Given the description of an element on the screen output the (x, y) to click on. 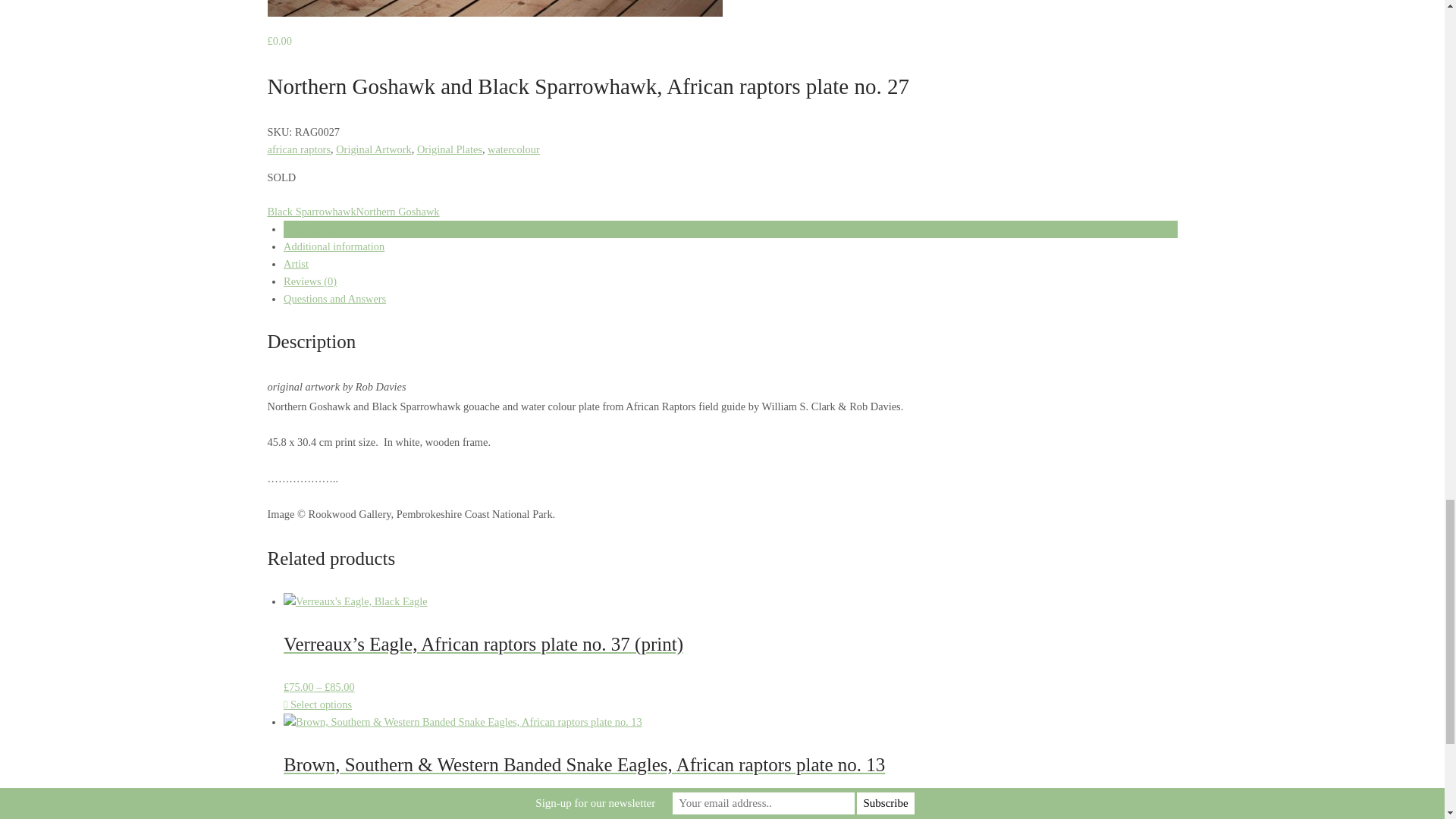
Original Plates (448, 149)
Additional information (333, 246)
watercolour (513, 149)
Black Sparrowhawk (310, 211)
Original Artwork (374, 149)
Questions and Answers (334, 298)
Northern Goshawk (397, 211)
african raptors (298, 149)
Select options (317, 704)
Poster mock-up (494, 8)
Description (308, 228)
Artist (295, 263)
